Given the description of an element on the screen output the (x, y) to click on. 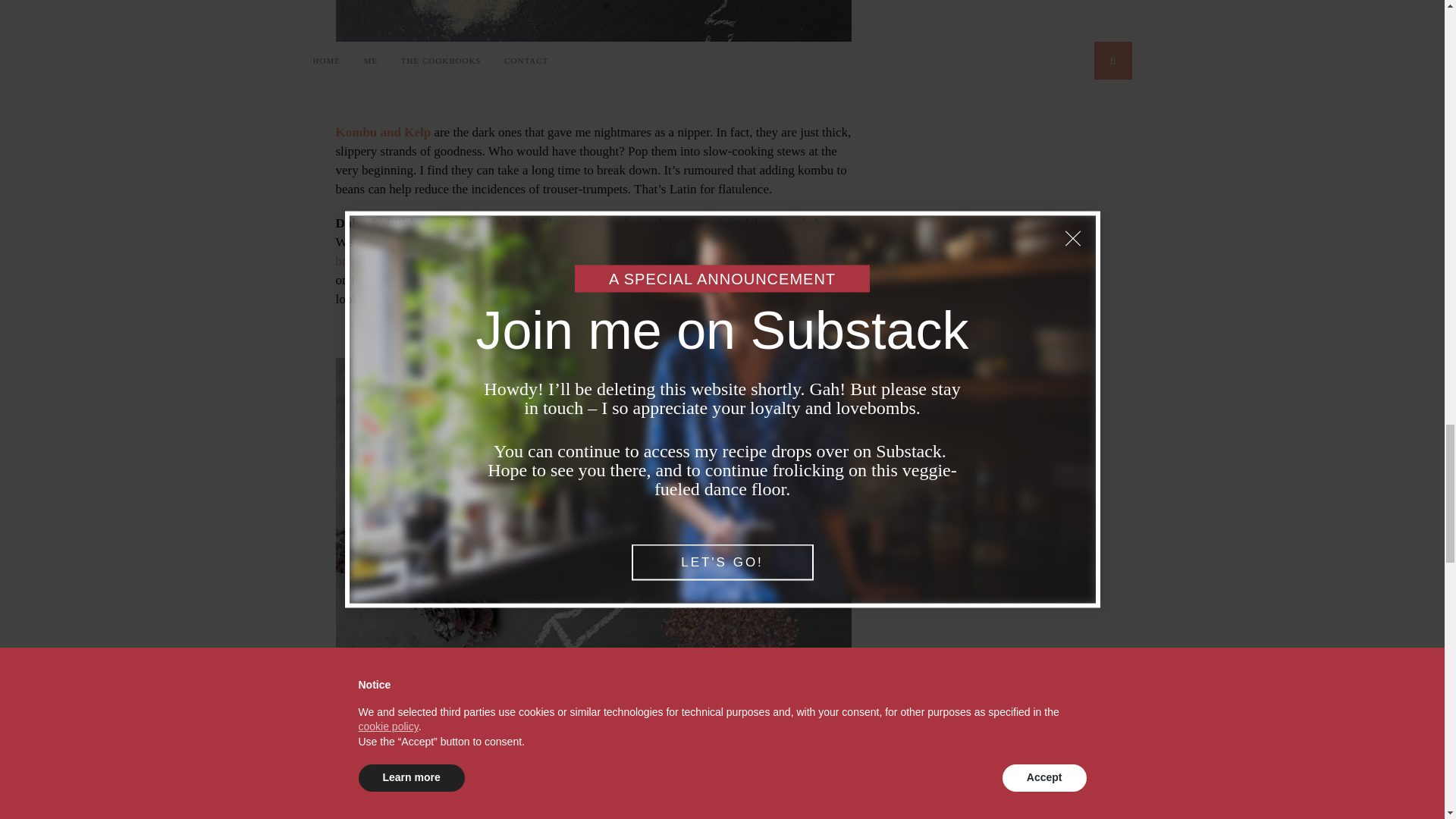
sticky brown rice. (588, 251)
fine powdery flakes (533, 242)
Kombu and Kelp (382, 132)
arame i (398, 759)
